Given the description of an element on the screen output the (x, y) to click on. 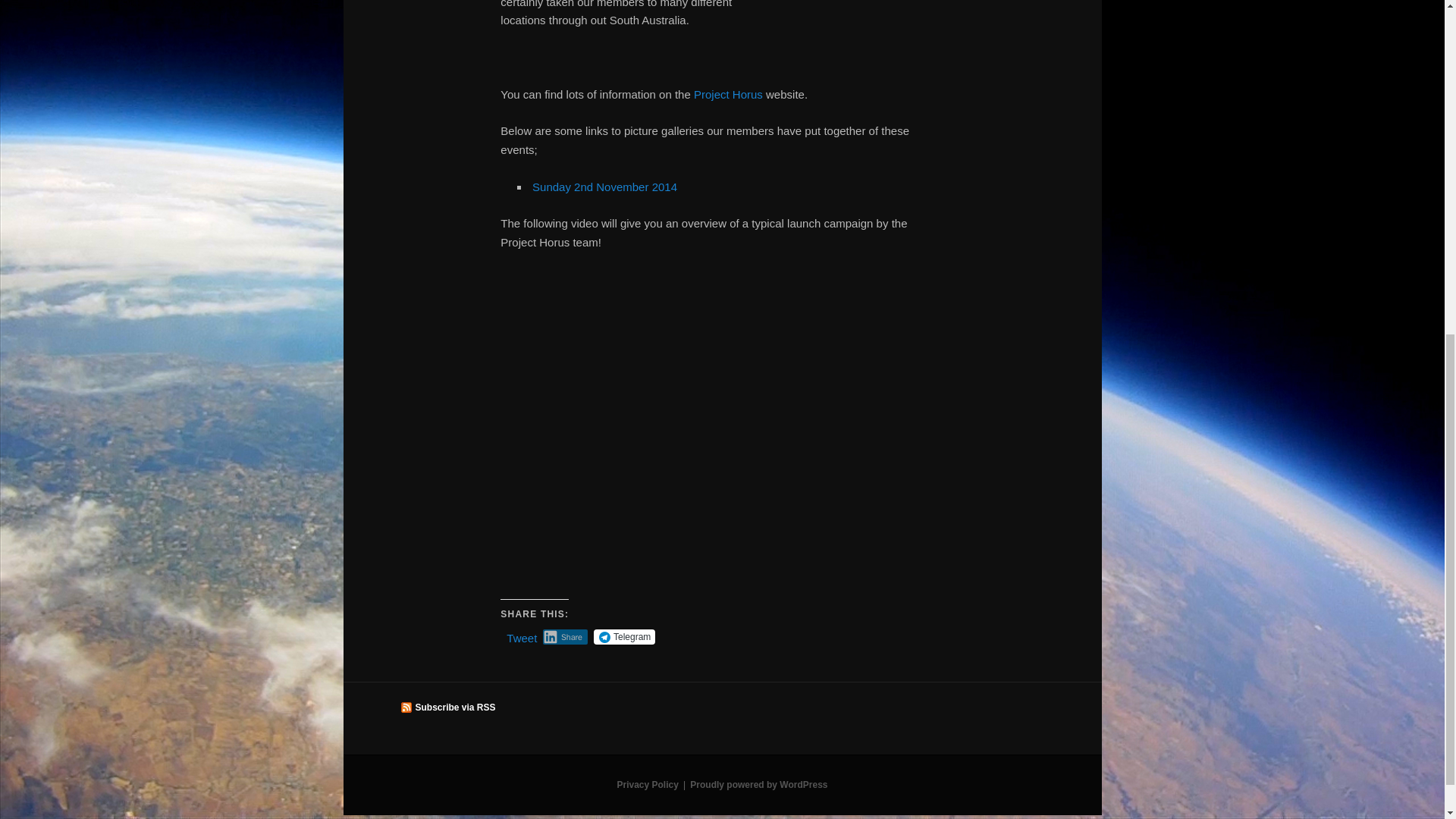
Semantic Personal Publishing Platform (758, 784)
Project Horus (728, 93)
Project Horus Launch 9th November 2014 (604, 186)
Click to share on Telegram (624, 636)
